Given the description of an element on the screen output the (x, y) to click on. 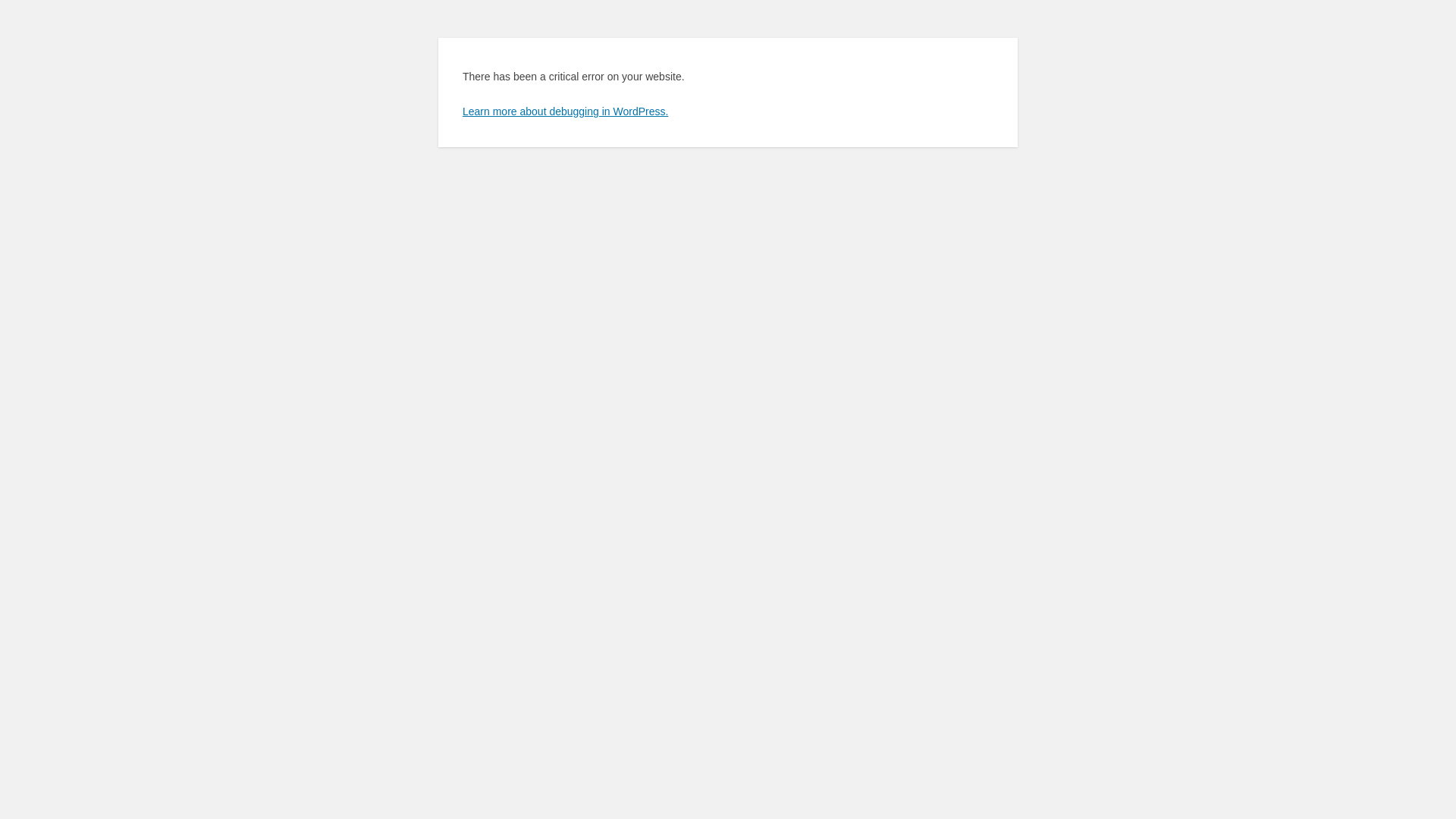
Learn more about debugging in WordPress. Element type: text (565, 111)
